Given the description of an element on the screen output the (x, y) to click on. 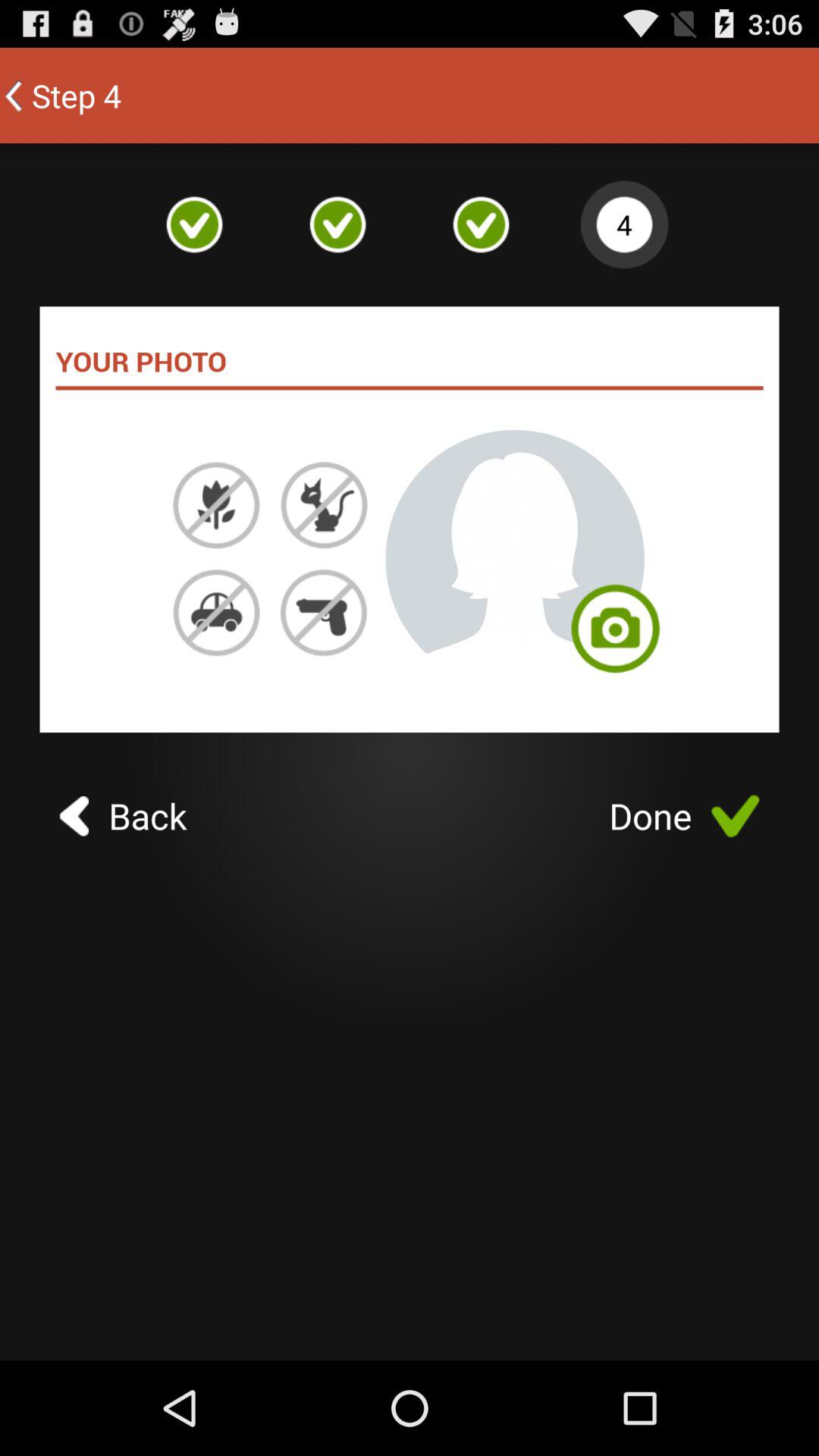
scroll until the done icon (684, 815)
